Given the description of an element on the screen output the (x, y) to click on. 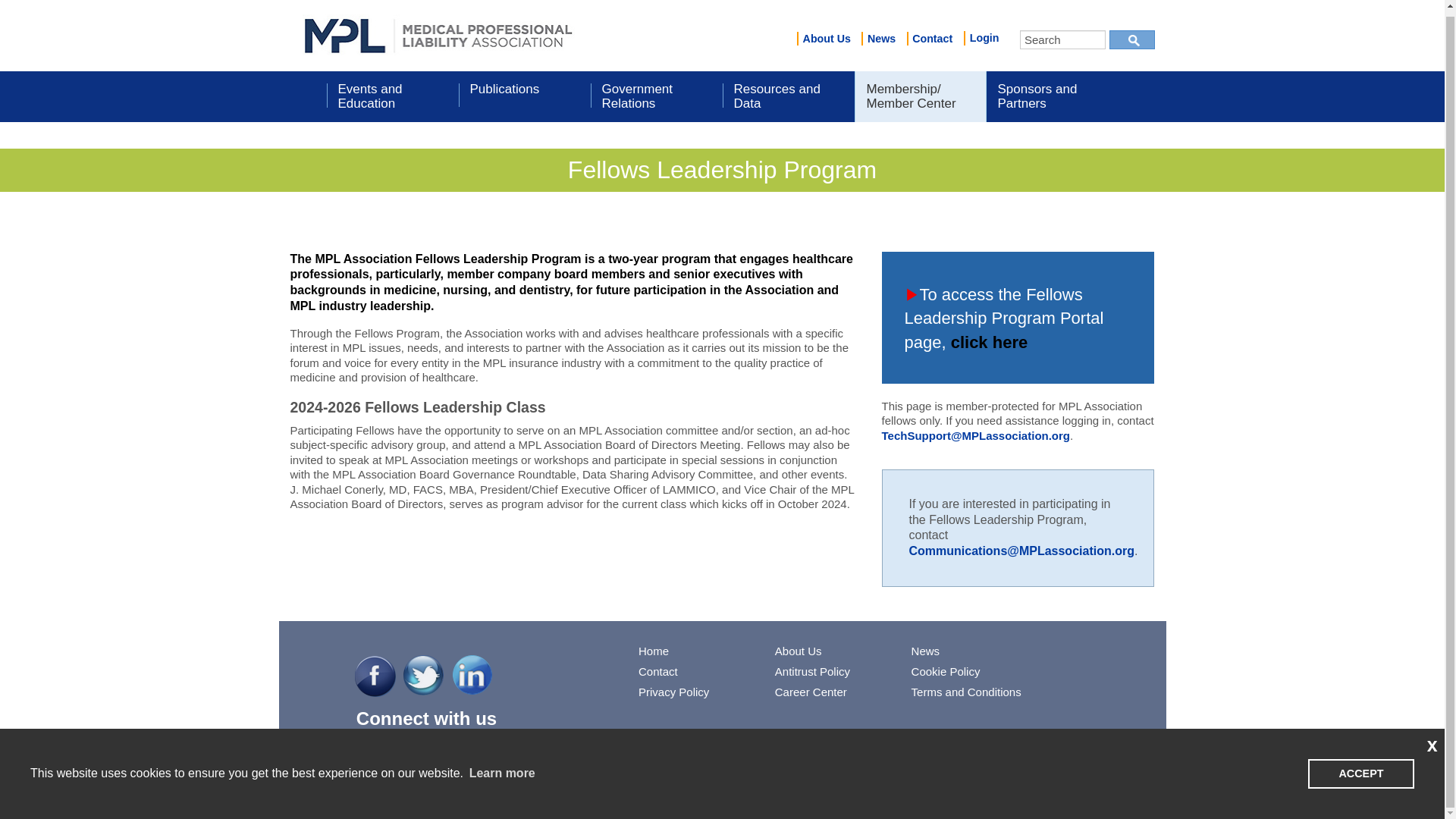
Learn more (501, 767)
iMIS (438, 33)
News (881, 38)
Contact (932, 38)
Events and Education (392, 96)
Search (1062, 39)
Resources and Data (787, 96)
Publications (523, 96)
Go (1131, 39)
ACCEPT (1360, 767)
Search (1062, 39)
Government Relations (655, 96)
Login (980, 38)
Home (438, 33)
About Us (826, 38)
